Given the description of an element on the screen output the (x, y) to click on. 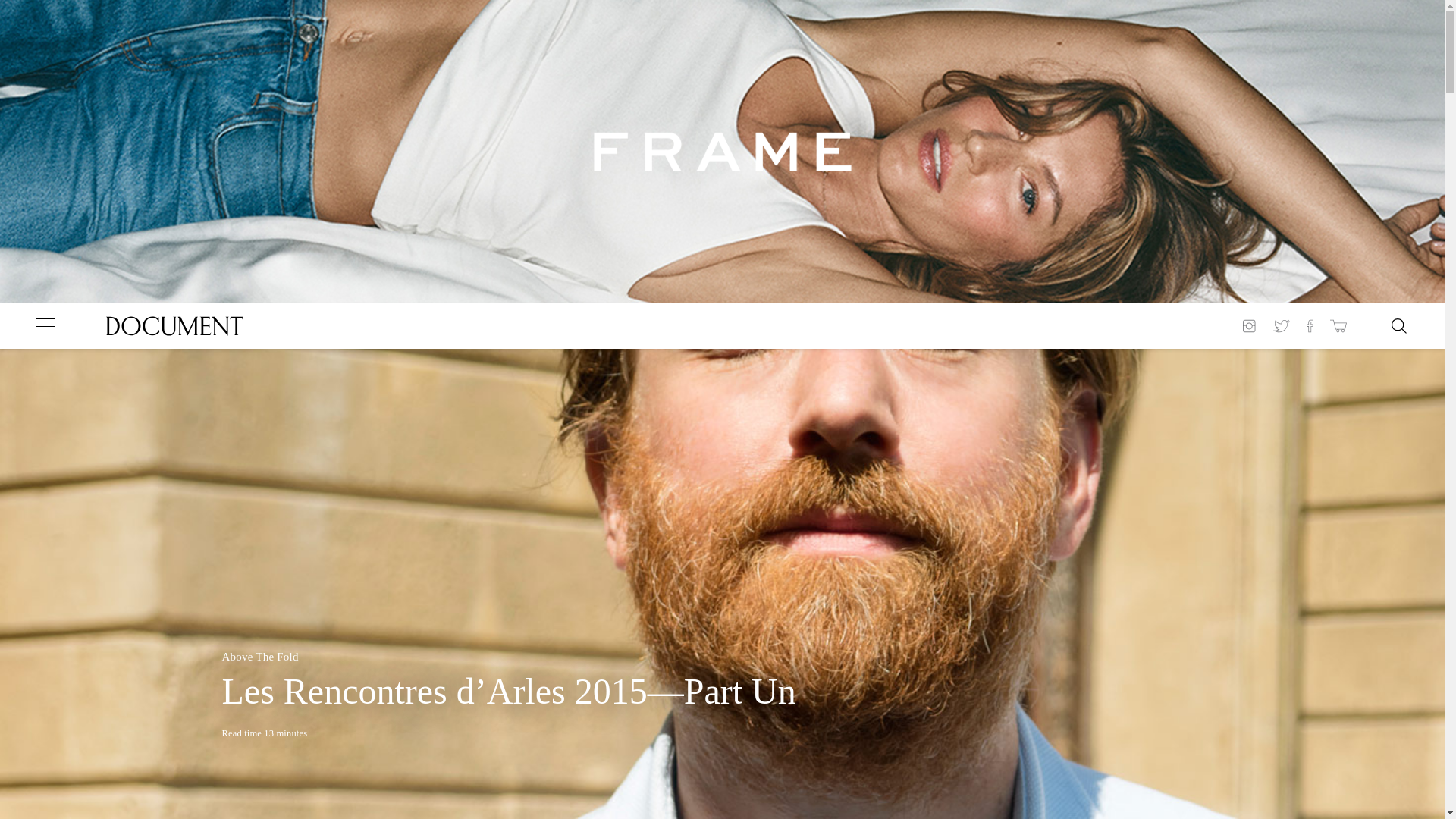
Follow on Twitter (1281, 326)
Shop (1338, 326)
Follow on Instagram (1251, 326)
